Given the description of an element on the screen output the (x, y) to click on. 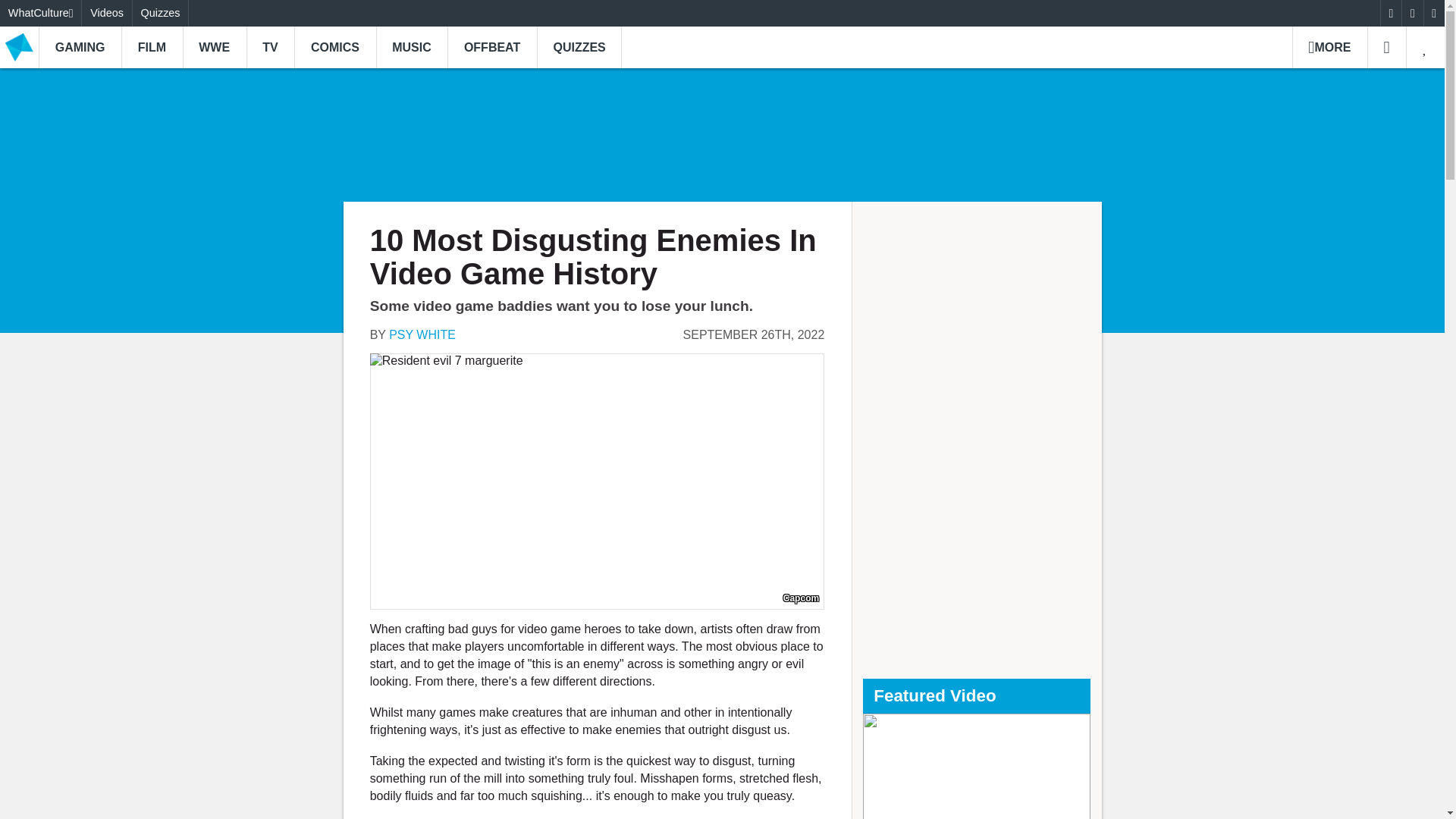
Videos (106, 13)
FILM (151, 46)
QUIZZES (580, 46)
GAMING (79, 46)
MUSIC (411, 46)
SEARCH (1386, 46)
OFFBEAT (491, 46)
TV (270, 46)
WWE (214, 46)
Search (1386, 46)
